Given the description of an element on the screen output the (x, y) to click on. 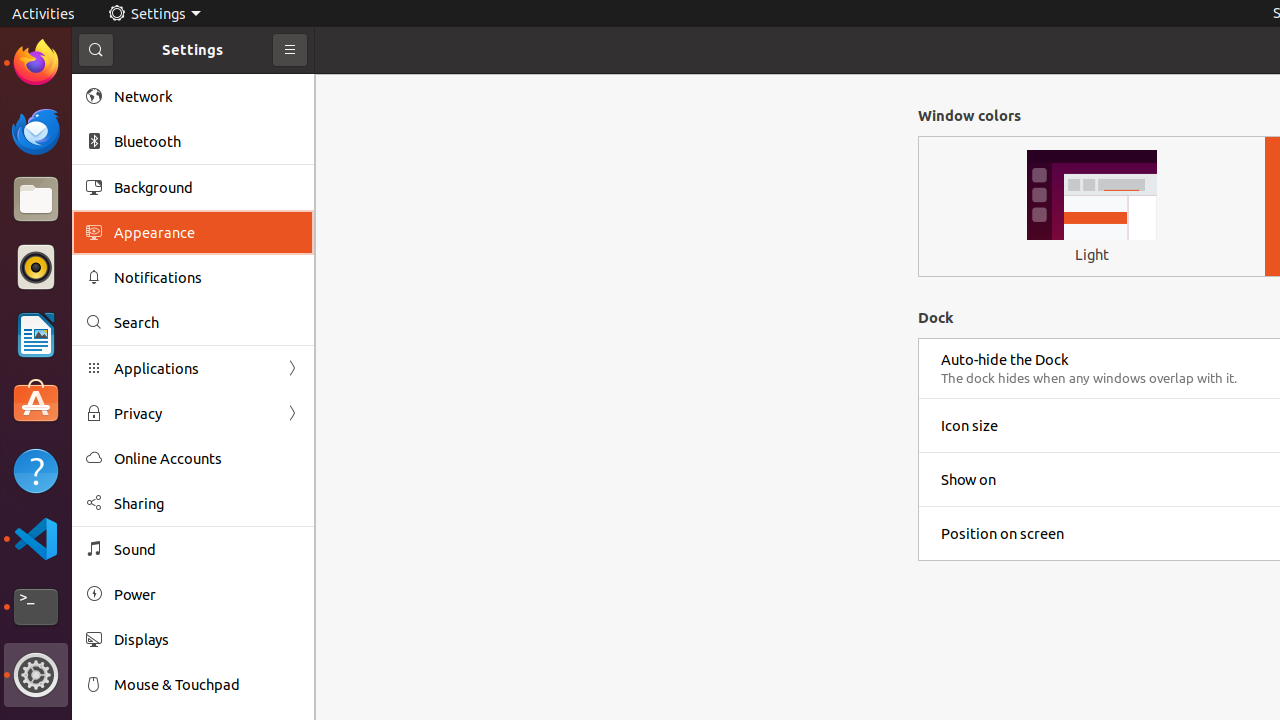
Online Accounts Element type: label (207, 458)
Displays Element type: label (207, 639)
The dock hides when any windows overlap with it. Element type: label (1089, 377)
Sharing Element type: label (207, 503)
